Given the description of an element on the screen output the (x, y) to click on. 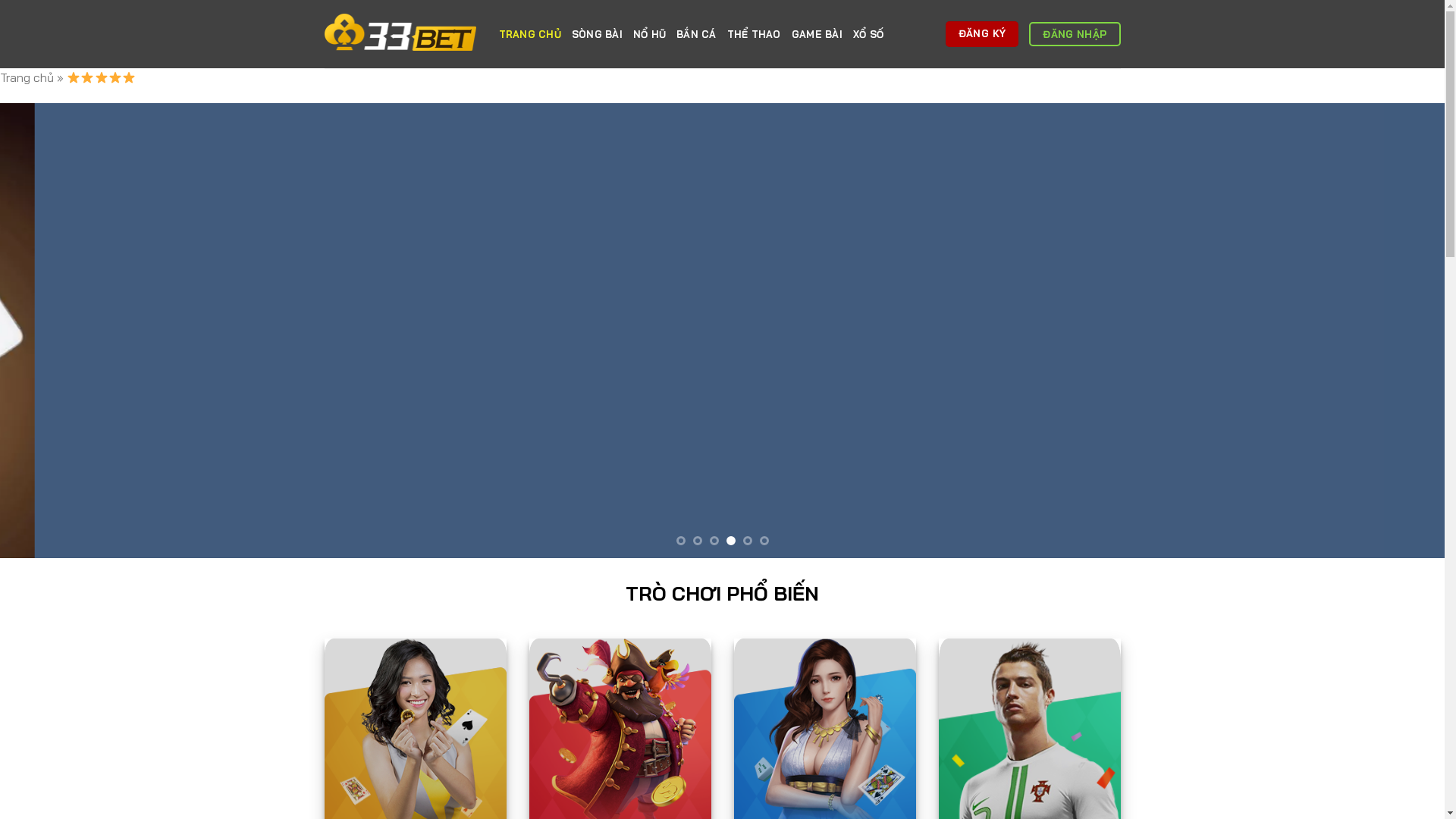
33BET Element type: hover (400, 33)
